Given the description of an element on the screen output the (x, y) to click on. 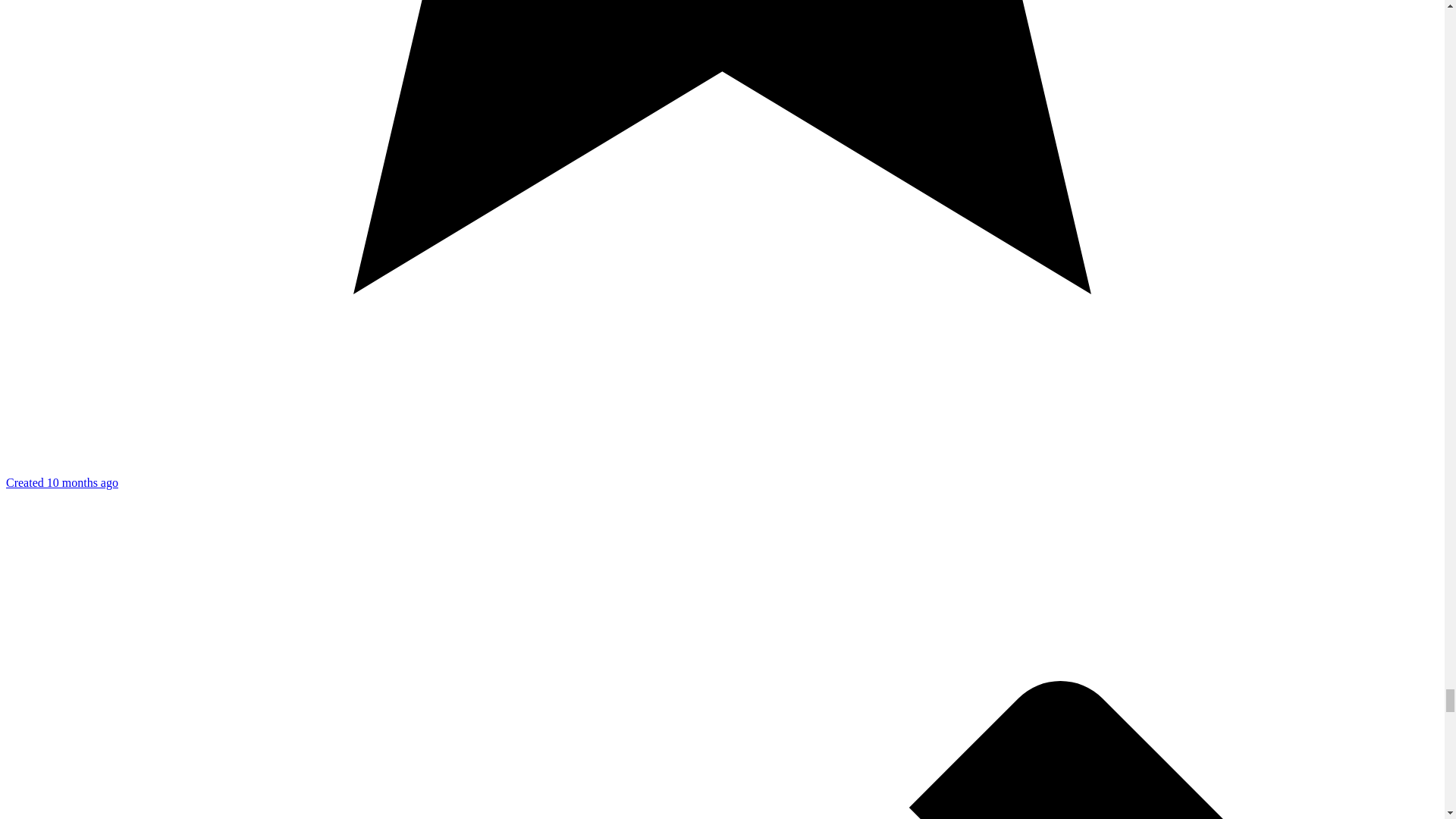
Sun, Sep 3, 2023 9:51 AM (61, 481)
